Given the description of an element on the screen output the (x, y) to click on. 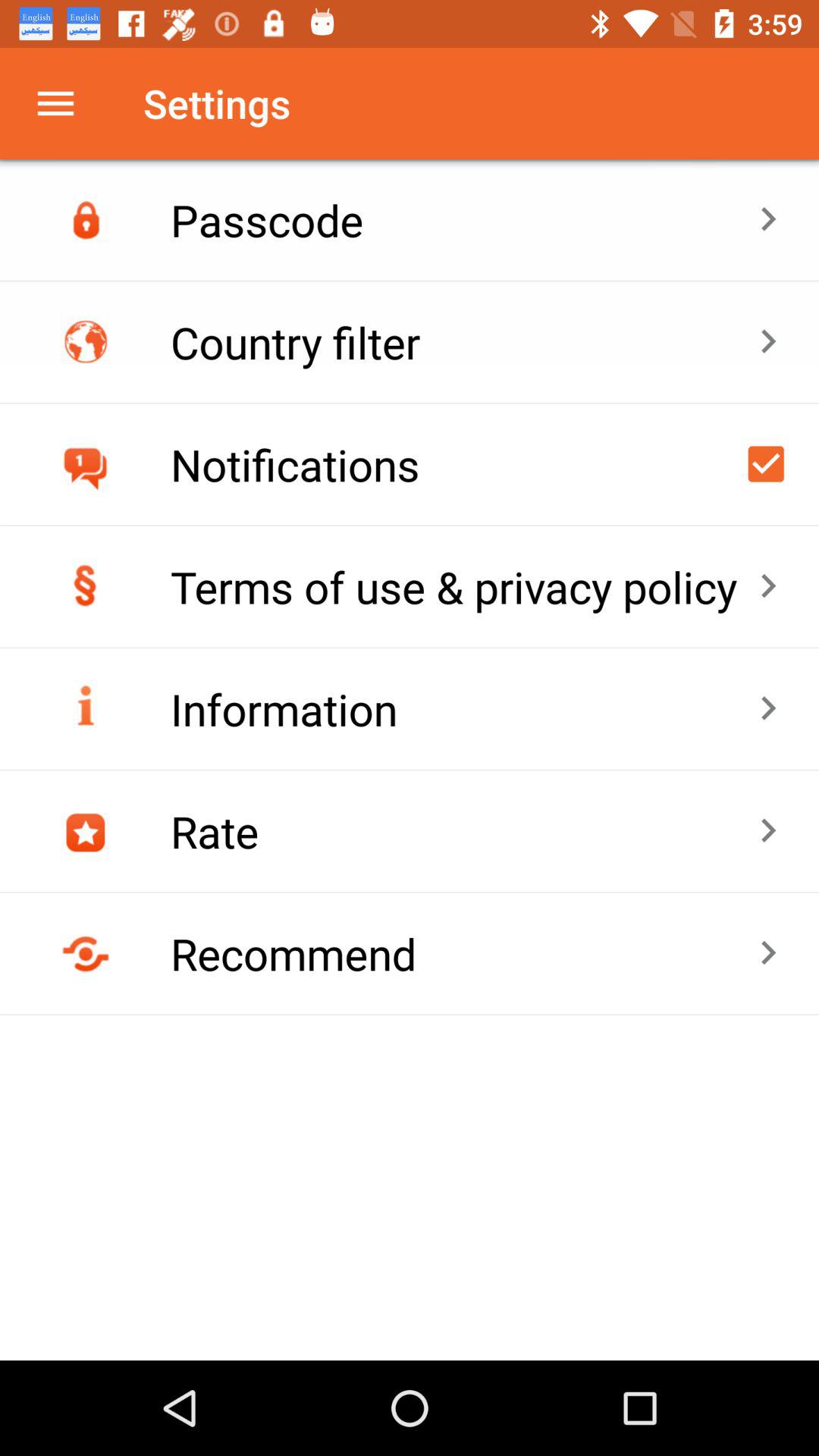
launch item below the terms of use icon (464, 708)
